Given the description of an element on the screen output the (x, y) to click on. 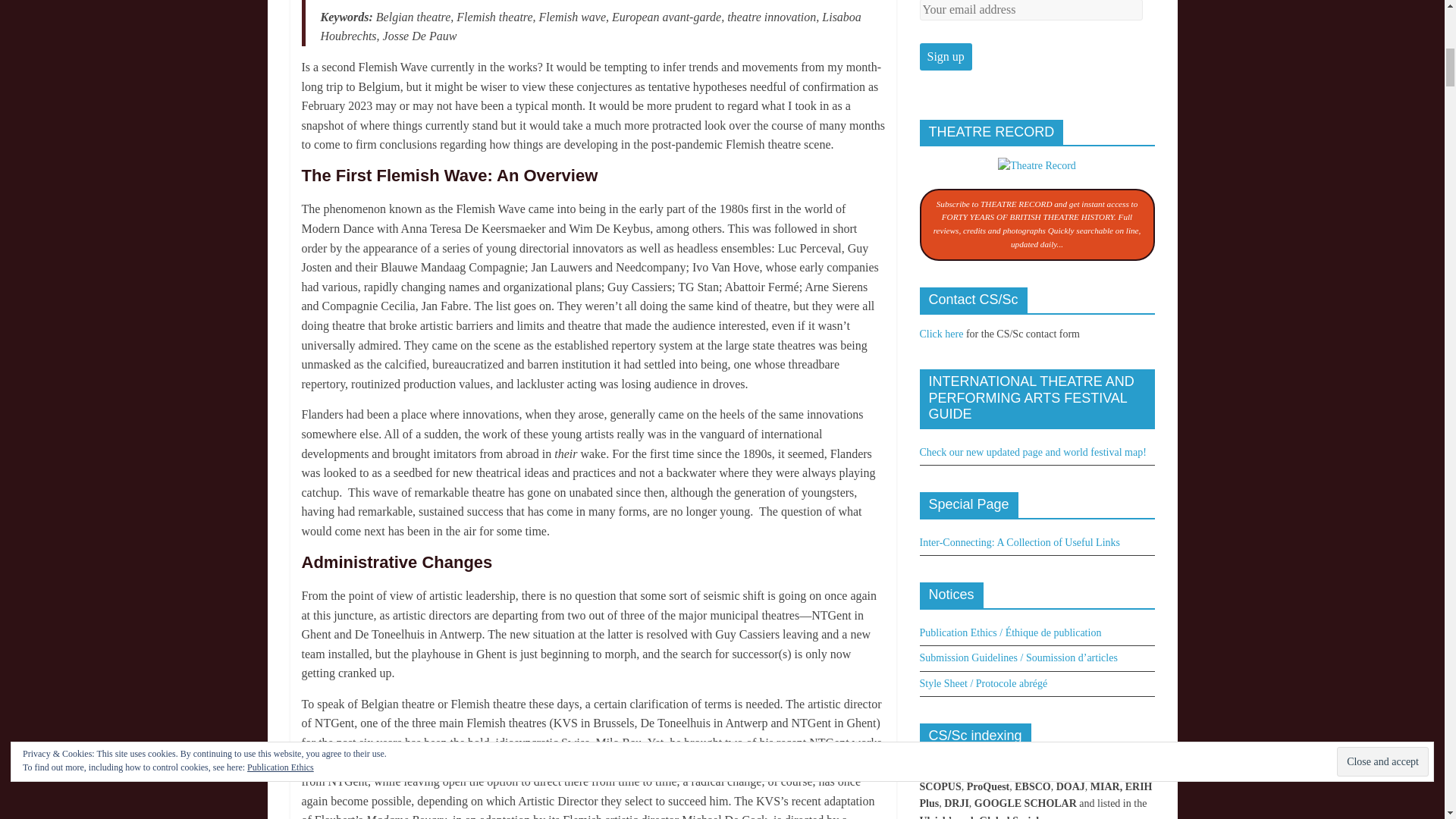
Check our new updated page and world festival map! (1031, 451)
Sign up (944, 56)
Click here (940, 333)
Inter-Connecting: A Collection of Useful Links (1018, 542)
Sign up (944, 56)
